Given the description of an element on the screen output the (x, y) to click on. 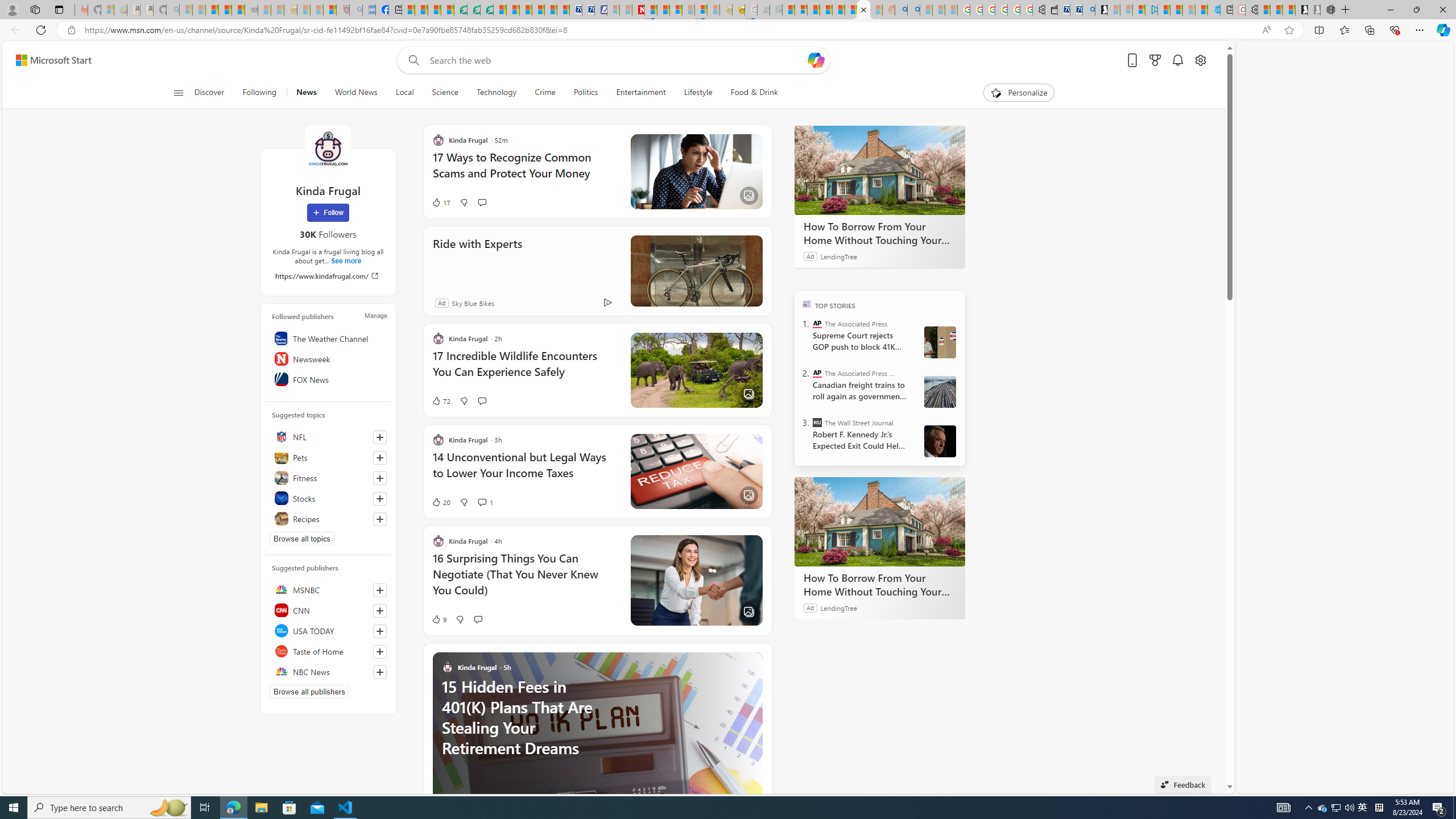
Kinda Frugal - MSN (864, 9)
DITOGAMES AG Imprint - Sleeping (775, 9)
Lifestyle (698, 92)
Skip to footer (46, 59)
Crime (545, 92)
How To Borrow From Your Home Without Touching Your Mortgage (879, 584)
Entertainment (641, 92)
See more (753, 660)
Entertainment (640, 92)
